Given the description of an element on the screen output the (x, y) to click on. 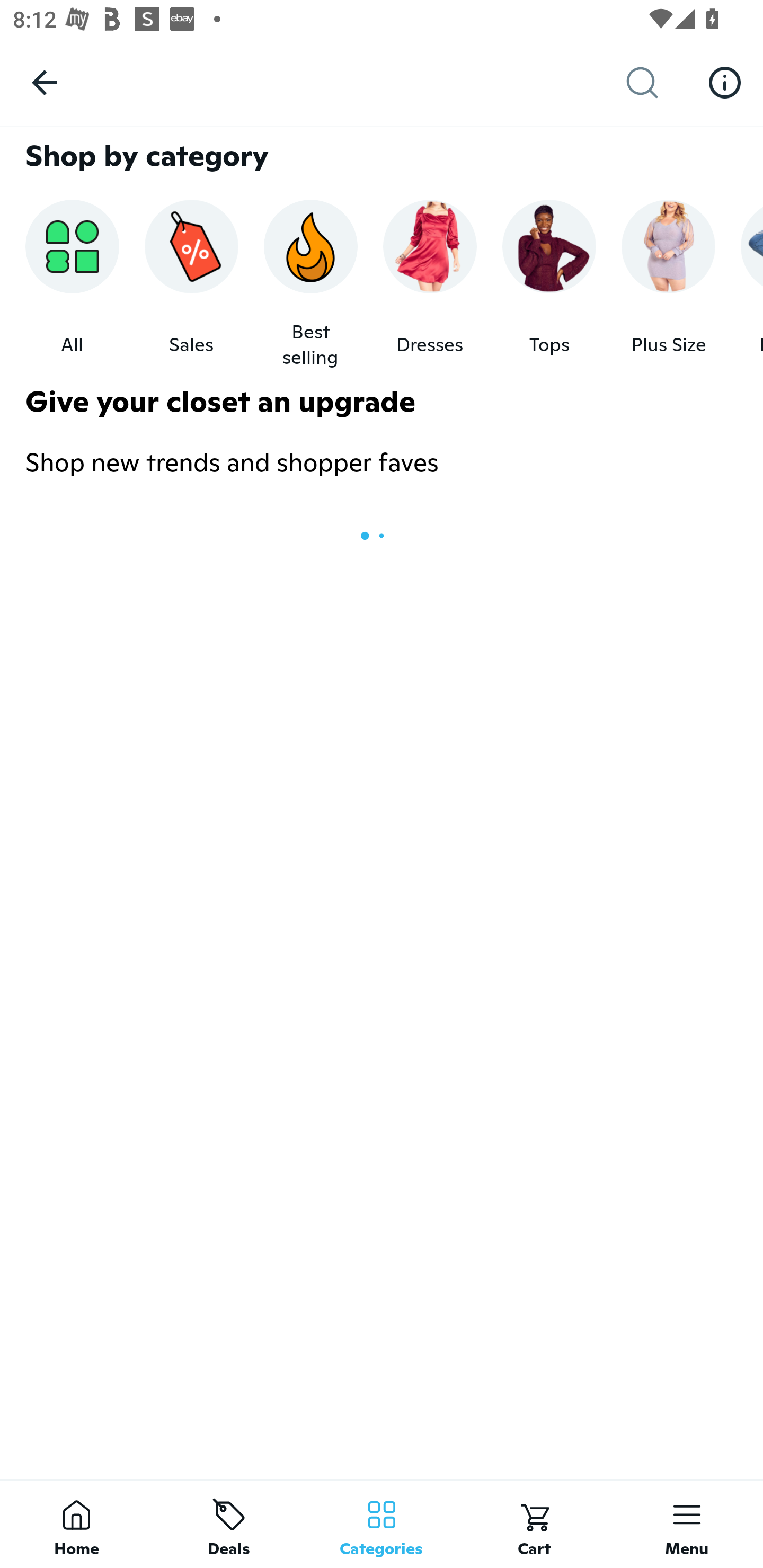
Navigate up (44, 82)
Learn More (724, 81)
Search (656, 82)
All (72, 284)
Sales (191, 284)
Best selling (310, 284)
Dresses (429, 284)
Tops (548, 284)
Plus Size (668, 284)
Home (76, 1523)
Deals (228, 1523)
Categories (381, 1523)
Cart (533, 1523)
Menu (686, 1523)
